Given the description of an element on the screen output the (x, y) to click on. 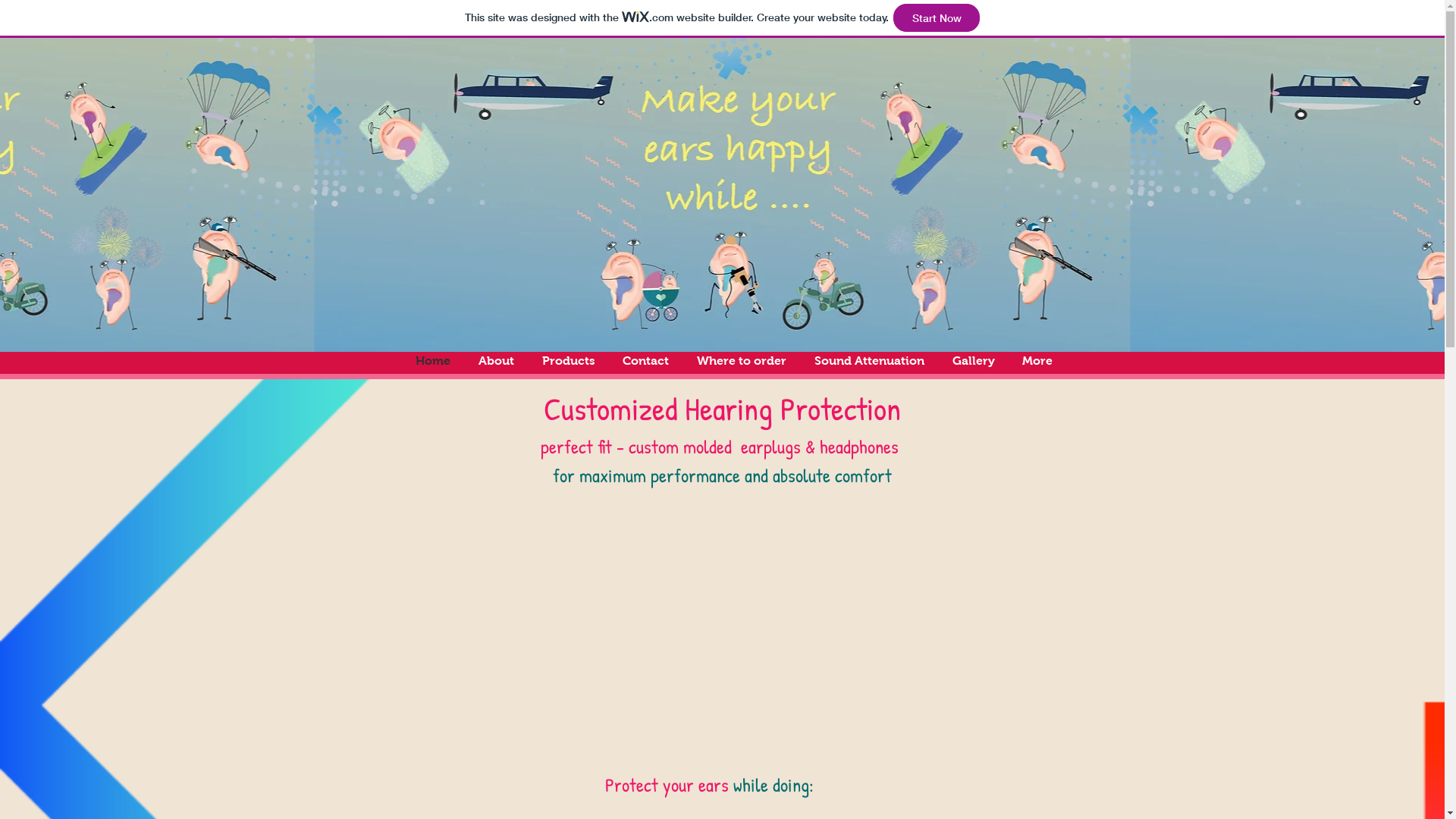
Sound Attenuation Element type: text (869, 360)
Home Element type: text (432, 360)
Where to order Element type: text (741, 360)
About Element type: text (495, 360)
Gallery Element type: text (973, 360)
Contact Element type: text (645, 360)
iPlayerHD Video Hosting Element type: hover (716, 637)
Products Element type: text (567, 360)
